Given the description of an element on the screen output the (x, y) to click on. 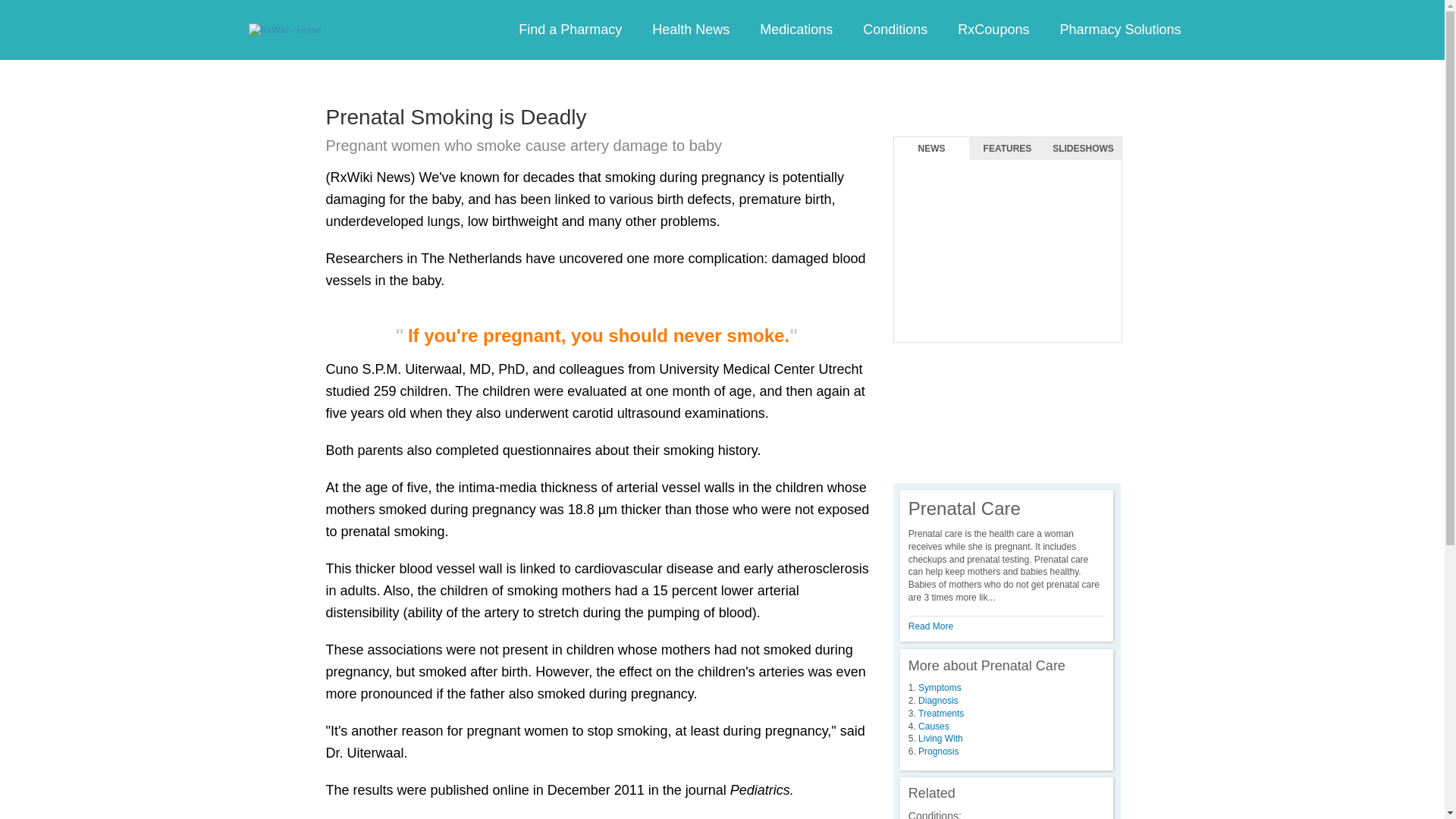
RxWiki (284, 29)
NEWS (931, 148)
Health News (690, 29)
RxCoupons (992, 29)
SLIDESHOWS (1083, 148)
Pharmacy Solutions (1119, 29)
FEATURES (1007, 148)
Conditions (894, 29)
Medications (795, 29)
Find a Pharmacy (570, 29)
